Given the description of an element on the screen output the (x, y) to click on. 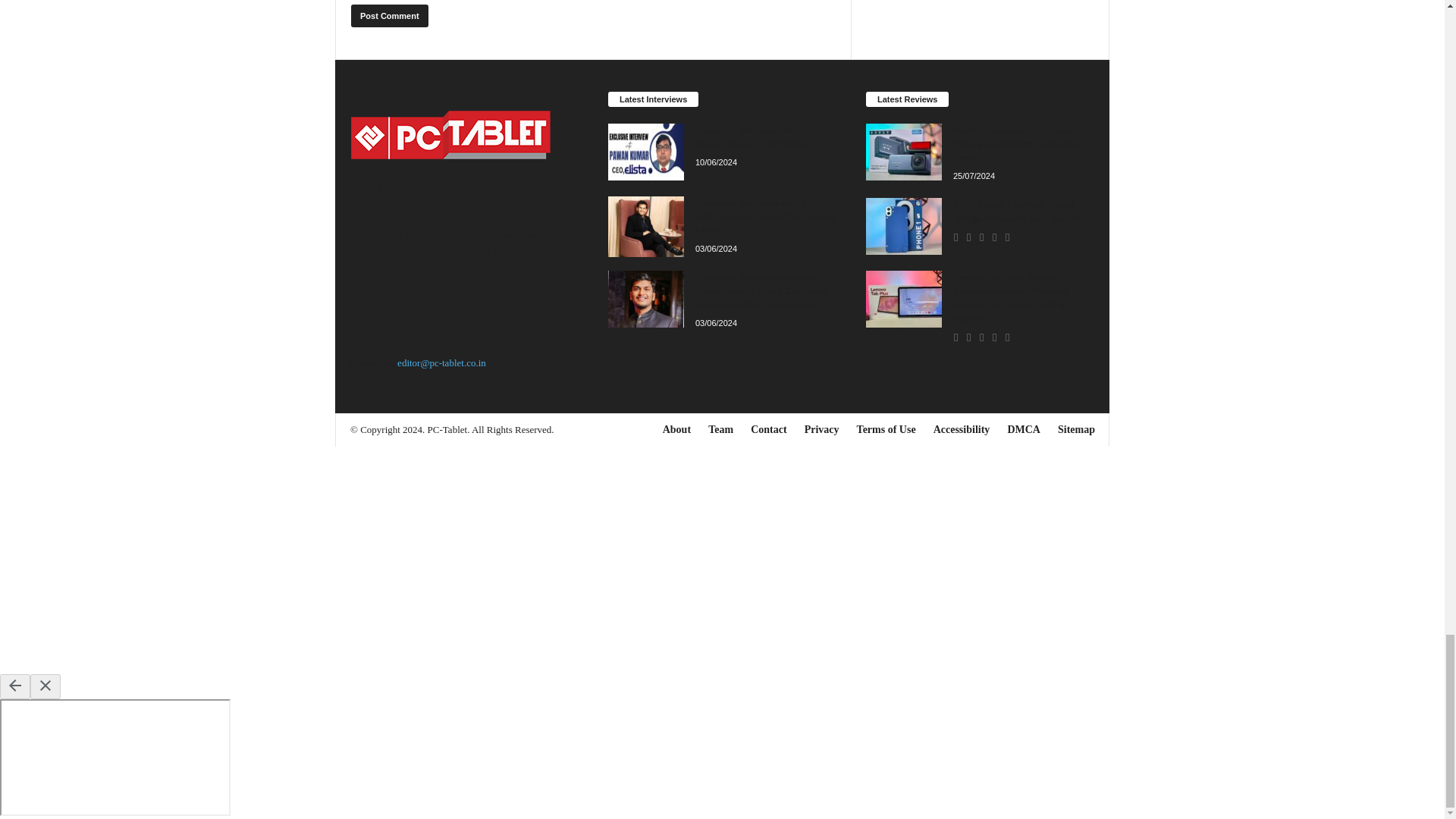
Post Comment (389, 15)
